Given the description of an element on the screen output the (x, y) to click on. 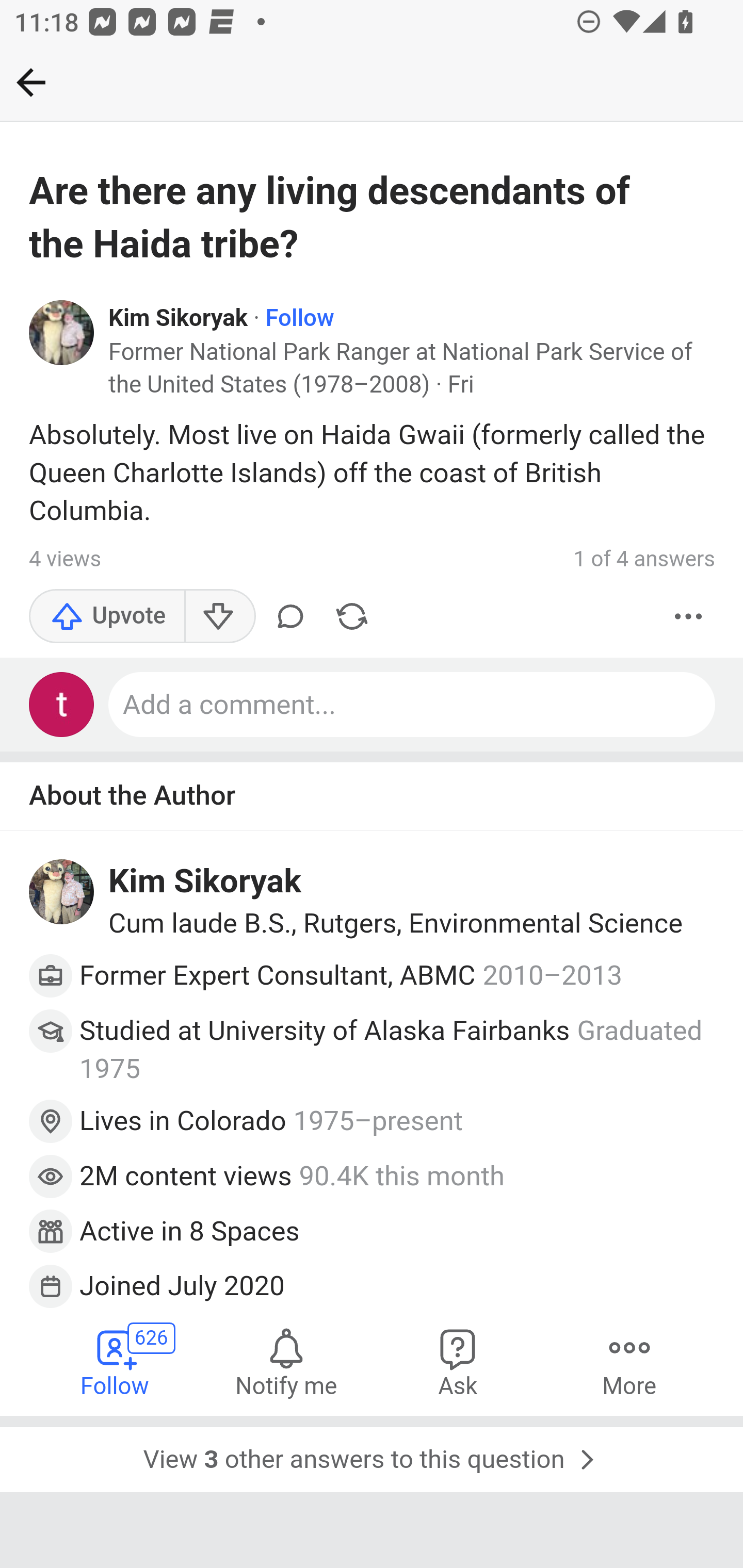
Back (30, 82)
Profile photo for Kim Sikoryak (61, 331)
Kim Sikoryak (178, 318)
Follow (299, 318)
1 of 4 answers (644, 558)
Upvote (106, 617)
Downvote (219, 617)
Comment (290, 617)
Share (351, 617)
More (688, 617)
Profile photo for Test Appium (61, 704)
Add a comment... (412, 704)
Profile photo for Kim Sikoryak (61, 891)
Kim Sikoryak (204, 880)
Follow Kim Sikoryak 626 Follow (115, 1361)
Notify me (285, 1361)
Ask (458, 1361)
More (628, 1361)
View 3 other answers to this question (371, 1454)
